Given the description of an element on the screen output the (x, y) to click on. 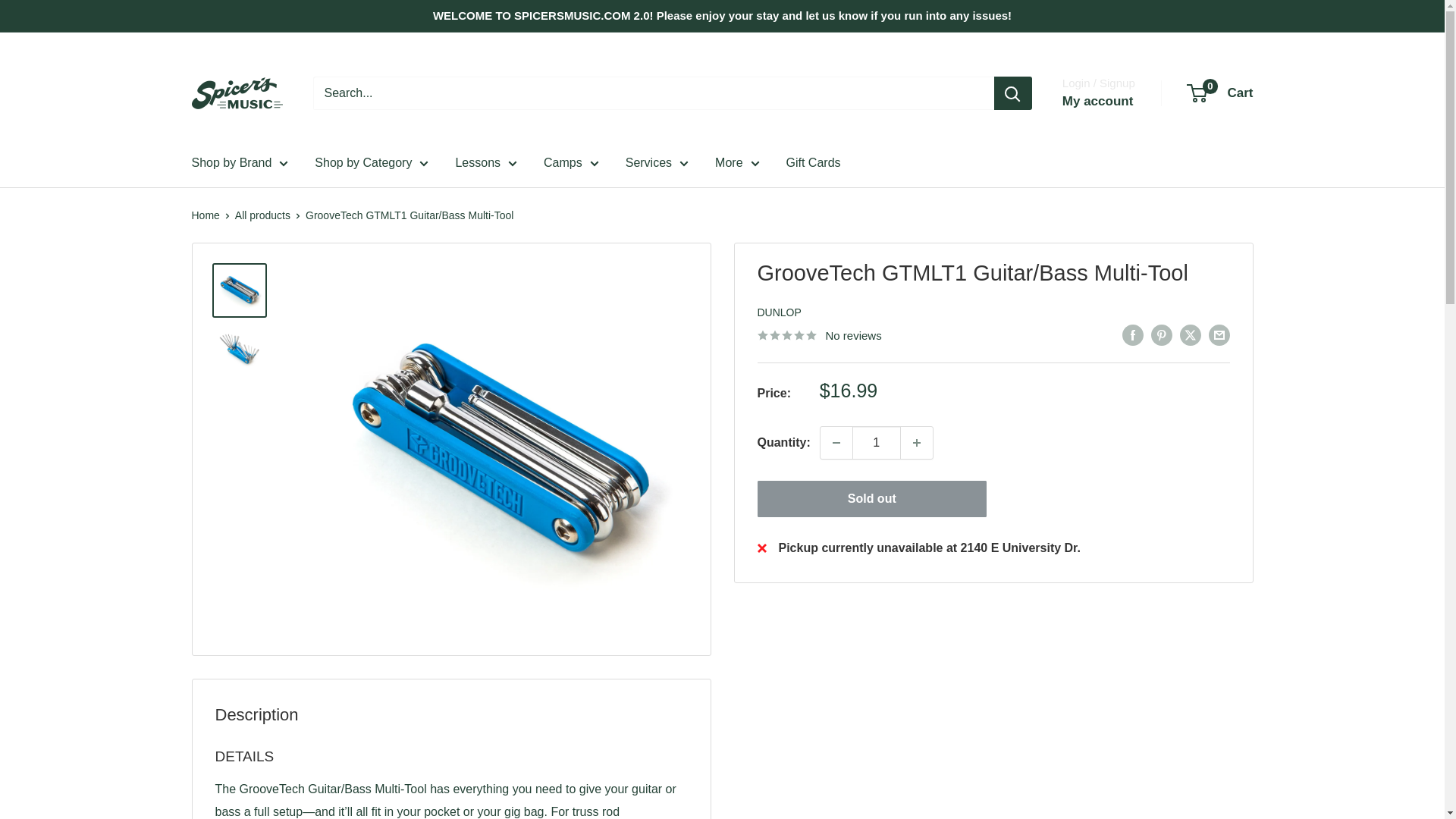
Decrease quantity by 1 (836, 442)
Increase quantity by 1 (917, 442)
1 (876, 442)
